Given the description of an element on the screen output the (x, y) to click on. 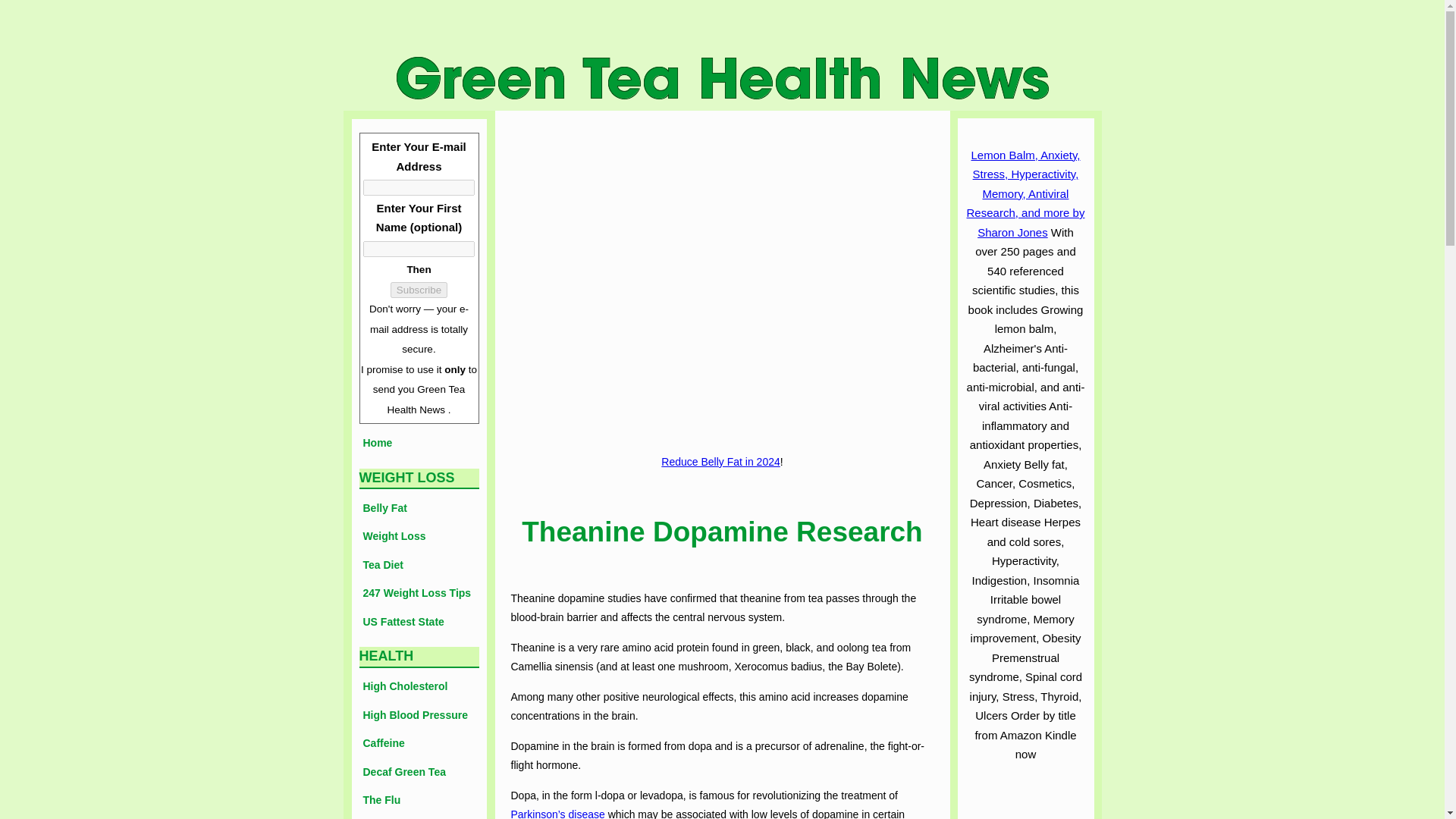
Breast Cancer (419, 817)
Home (419, 443)
Tea Diet (419, 565)
Decaf Green Tea (419, 771)
High Cholesterol (419, 687)
Belly Fat (419, 507)
Reduce Belly Fat in 2024 (719, 461)
US Fattest State (419, 621)
Caffeine (419, 743)
247 Weight Loss Tips (419, 593)
